Given the description of an element on the screen output the (x, y) to click on. 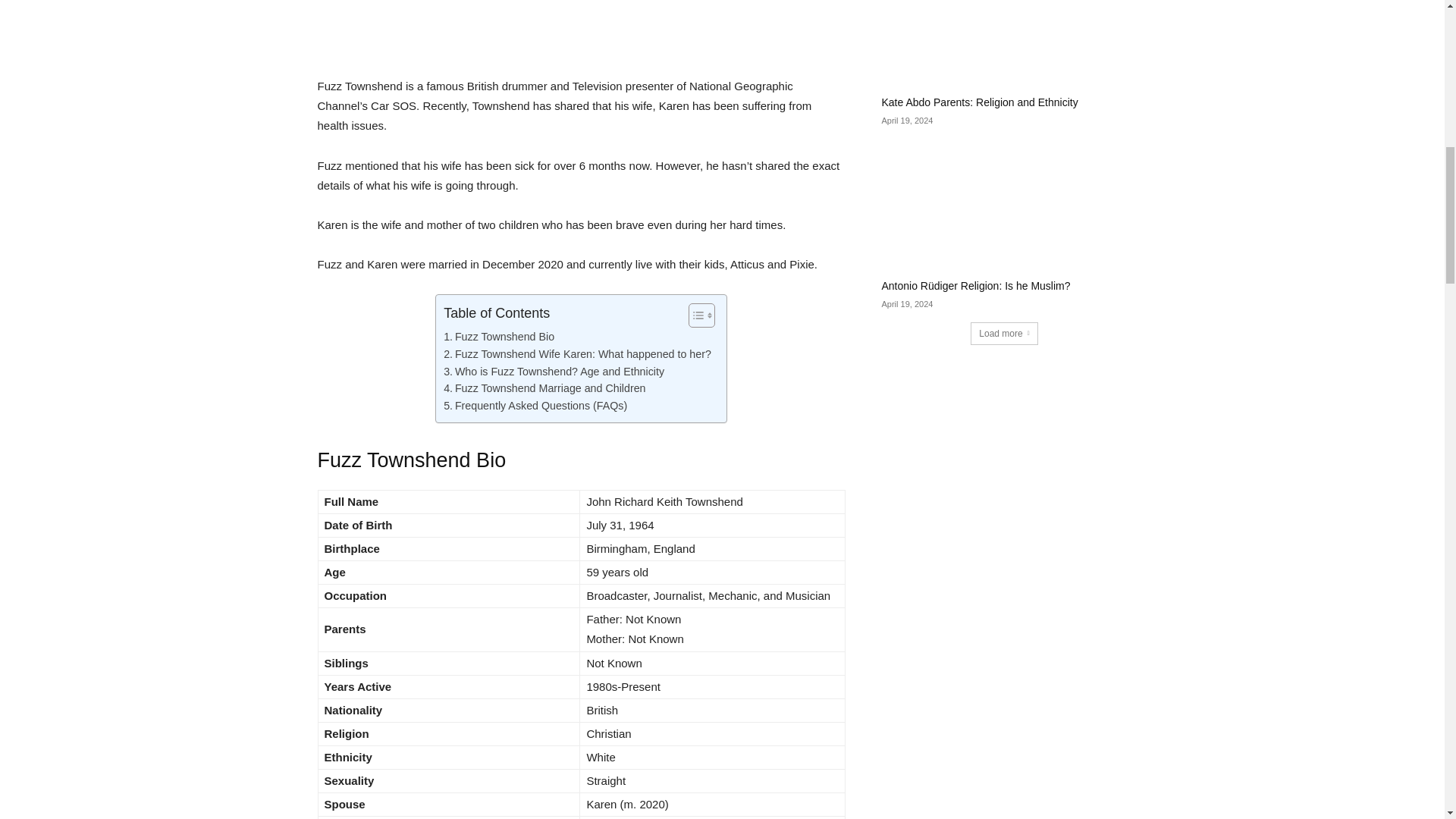
Fuzz Townshend Marriage and Children (544, 388)
Fuzz Townshend Marriage and Children (544, 388)
Who is Fuzz Townshend? Age and Ethnicity (553, 371)
Fuzz Townshend Wife Karen: What happened to her? (577, 354)
Who is Fuzz Townshend? Age and Ethnicity (553, 371)
Fuzz Townshend Bio (499, 336)
Fuzz Townshend Wife Karen: What happened to her? (577, 354)
Fuzz Townshend Bio (499, 336)
